Given the description of an element on the screen output the (x, y) to click on. 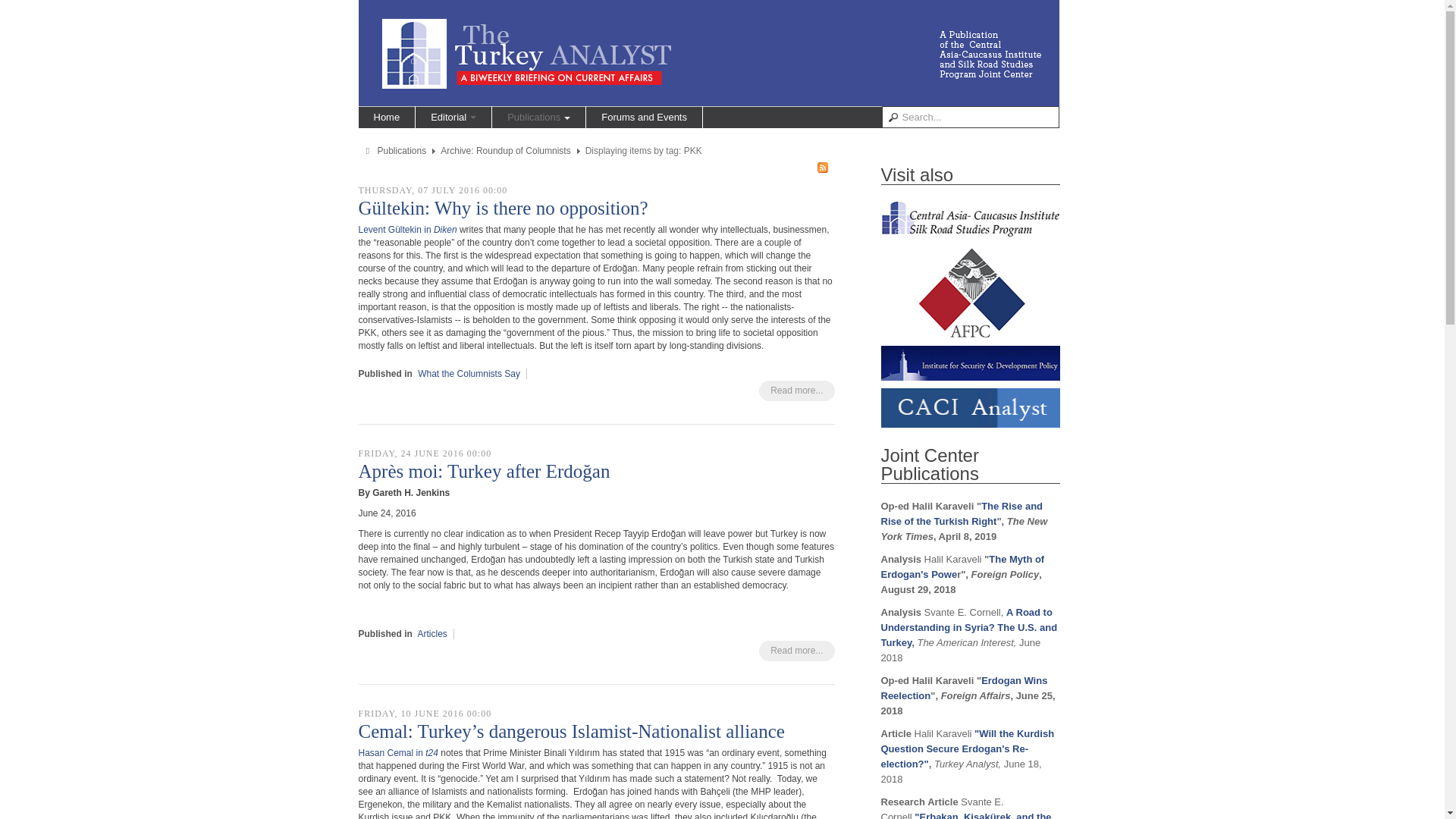
Publications (401, 150)
What the Columnists Say (468, 373)
Hasan Cemal in t24 (399, 752)
Read more... (796, 390)
Articles (431, 633)
Archive: Roundup of Columnists (505, 150)
Home (386, 117)
Editorial (453, 117)
Publications (538, 117)
Read more... (796, 650)
You are here:  (368, 151)
Forums and Events (643, 117)
Subscribe to this RSS feed (821, 167)
